Given the description of an element on the screen output the (x, y) to click on. 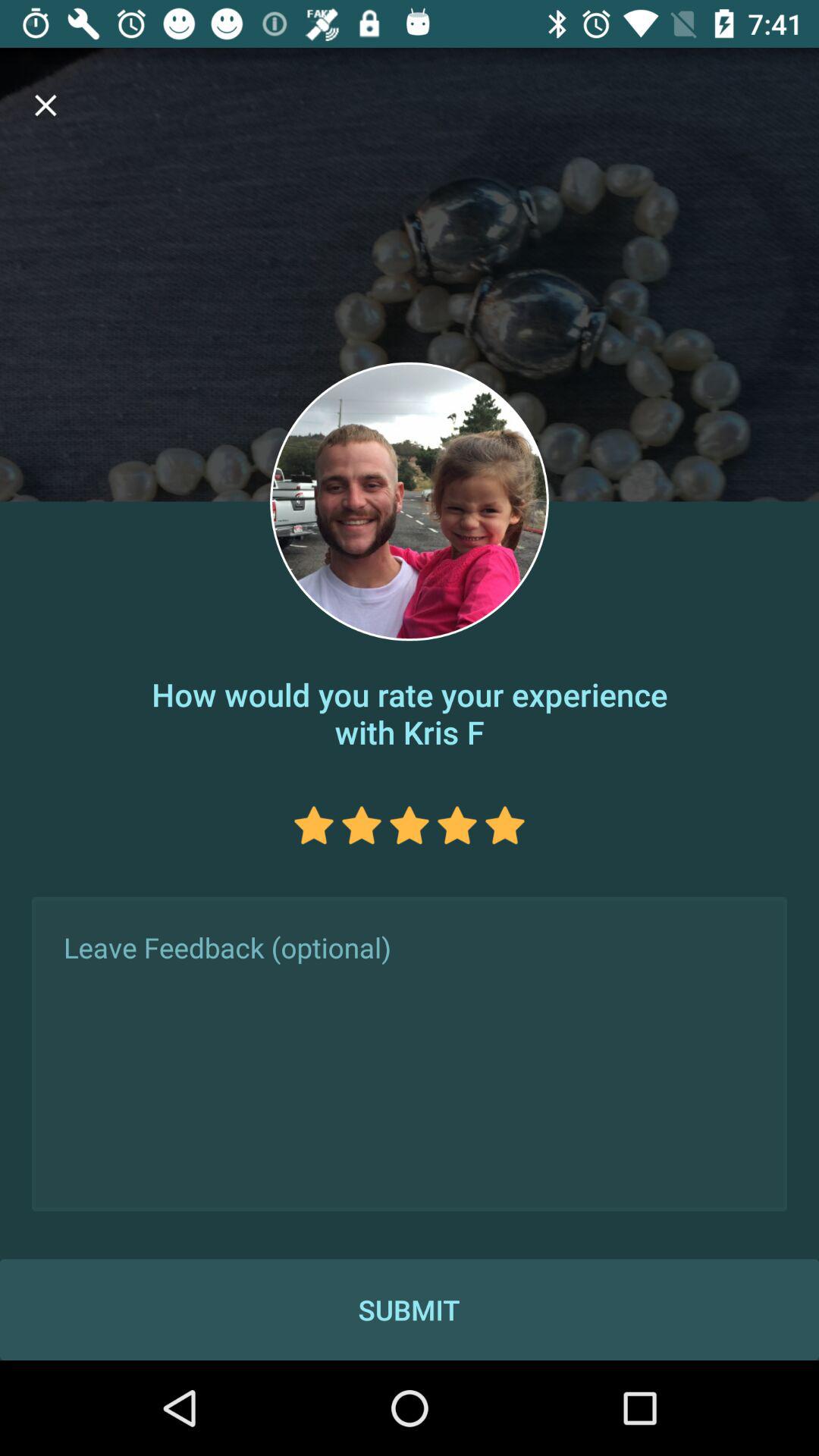
leave feedback field (409, 1053)
